Given the description of an element on the screen output the (x, y) to click on. 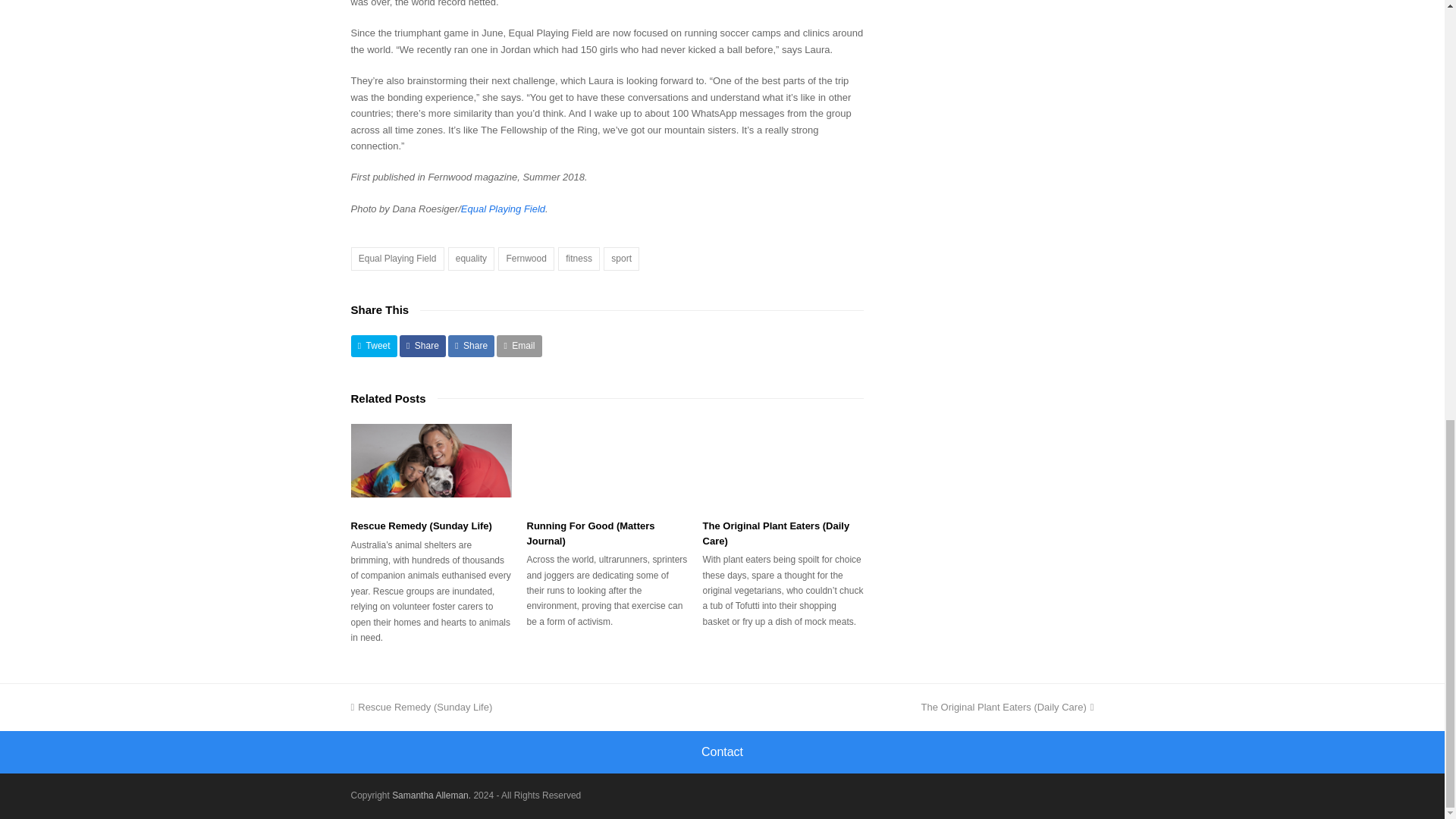
Tweet (373, 345)
Fernwood (525, 259)
Share (471, 345)
fitness (578, 259)
Equal Playing Field (502, 208)
sport (621, 259)
Email (518, 345)
equality (471, 259)
Equal Playing Field (397, 259)
Samantha Alleman. (430, 795)
